Given the description of an element on the screen output the (x, y) to click on. 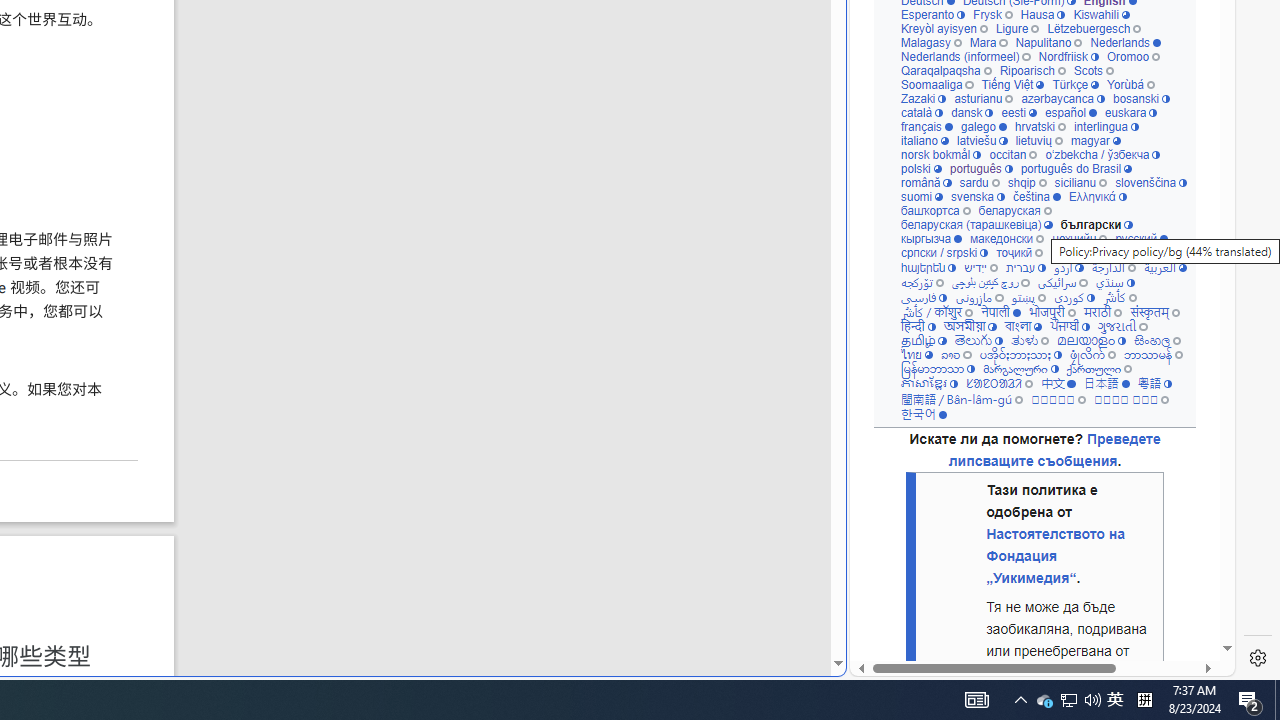
bosanski (1141, 97)
euskara (1130, 112)
Oromoo (1132, 56)
suomi (921, 195)
